Given the description of an element on the screen output the (x, y) to click on. 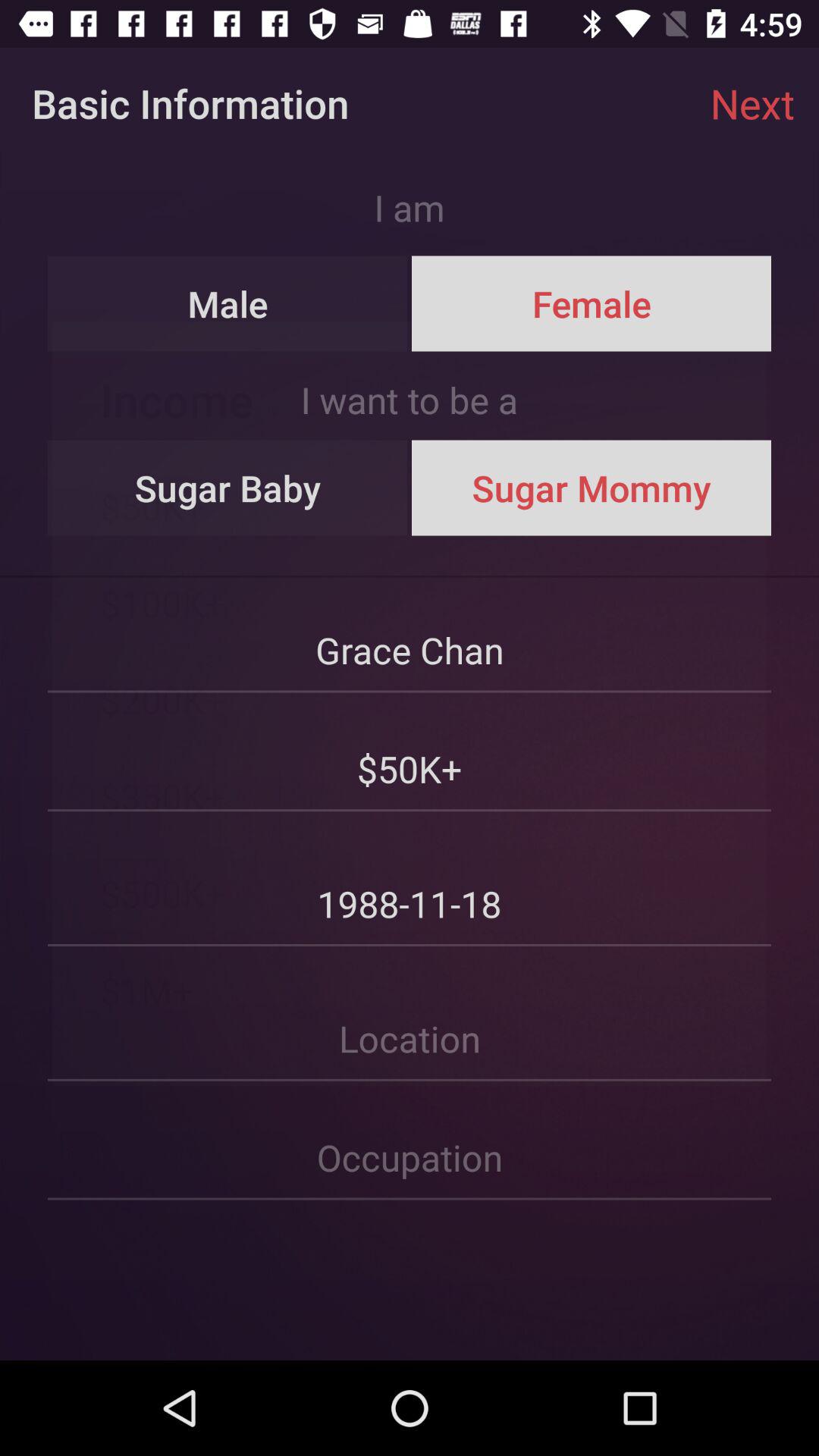
jump to male item (227, 303)
